Given the description of an element on the screen output the (x, y) to click on. 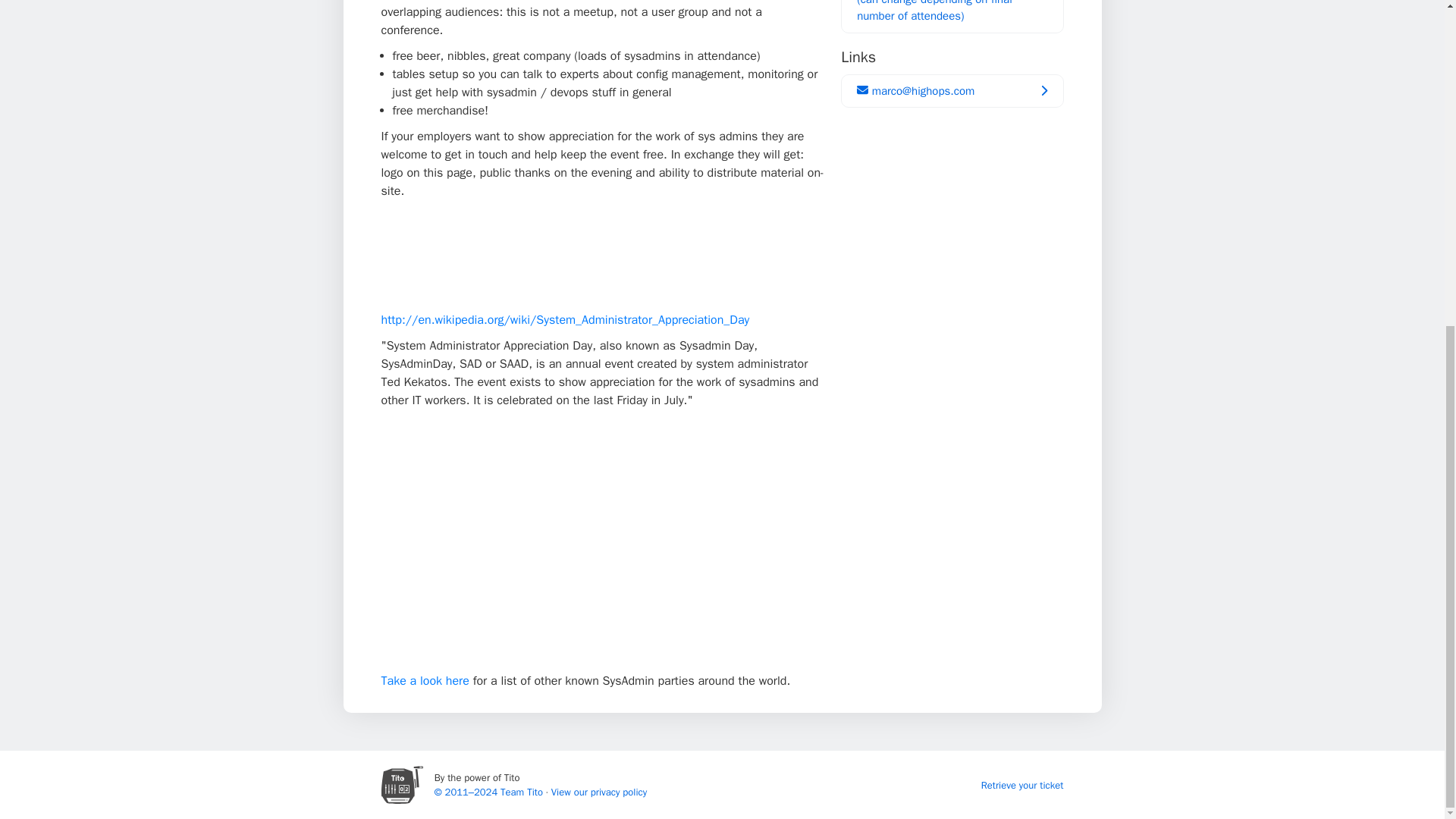
Retrieve your ticket (1022, 784)
Take a look here (424, 680)
View our privacy policy (598, 791)
